Given the description of an element on the screen output the (x, y) to click on. 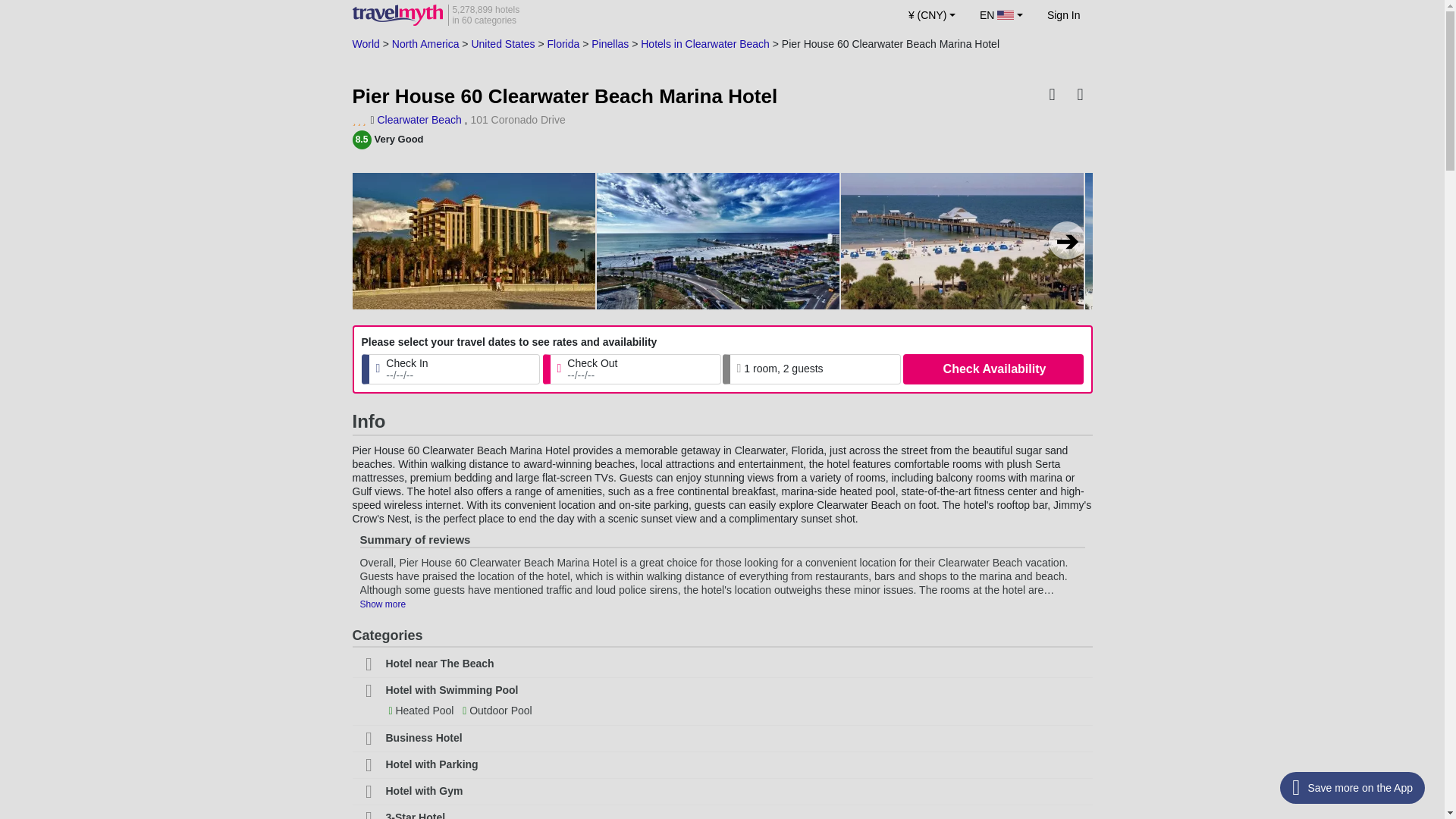
Check Availability (992, 368)
Hotels in the United States (502, 43)
United States (502, 43)
Hotels in North America (435, 14)
Florida (425, 43)
Hotels in Florida (563, 43)
World (563, 43)
Clearwater Beach (365, 43)
North America (419, 119)
Pinellas (425, 43)
Hotels (609, 43)
Hotels in Clearwater Beach (365, 43)
Sign In (705, 43)
EN  (1063, 15)
